Given the description of an element on the screen output the (x, y) to click on. 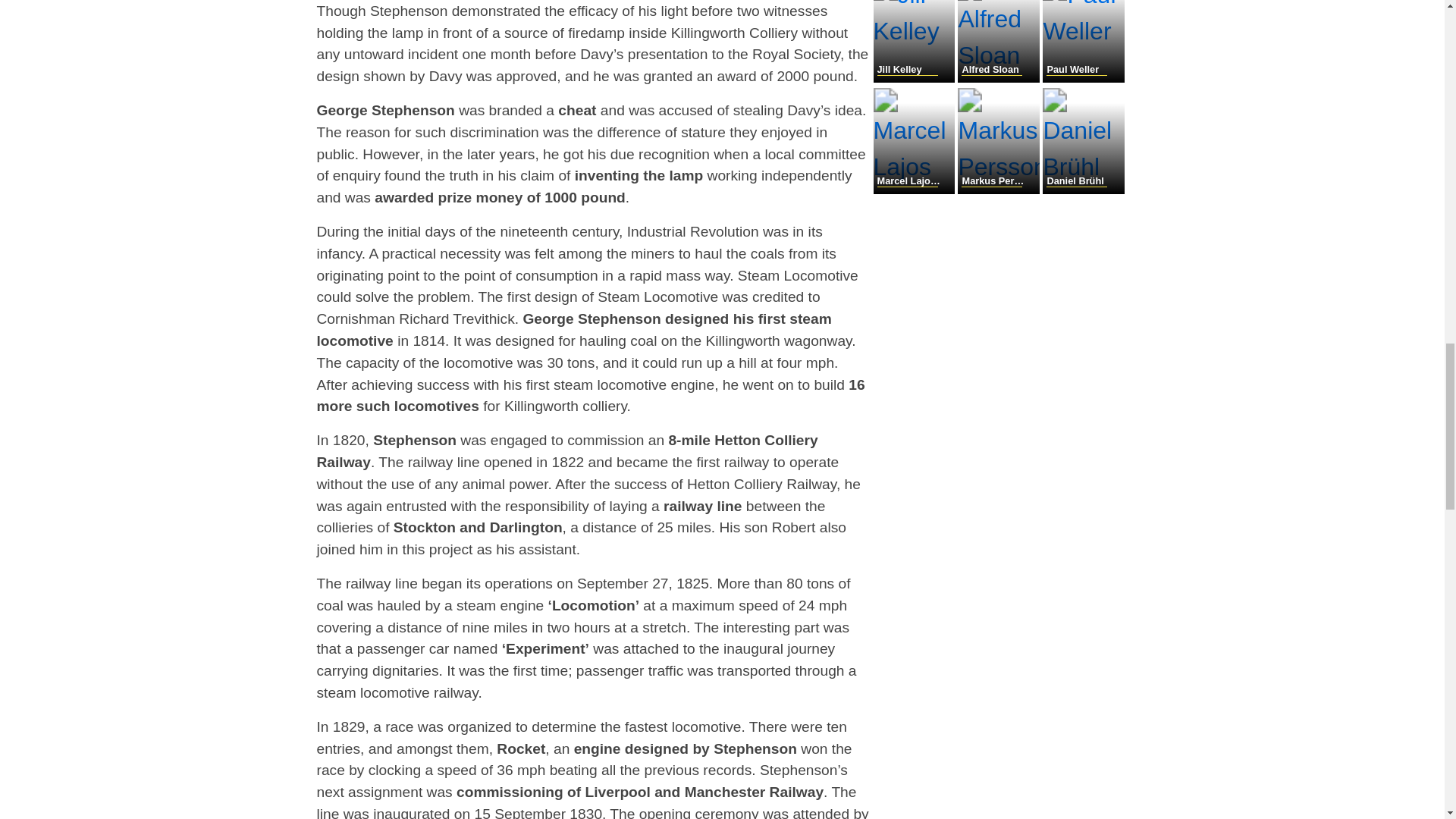
Alfred Sloan (1000, 78)
Jill Kelley (915, 78)
Paul Weller (1083, 78)
Marcel Lajos Breuer (915, 189)
Markus Persson (1000, 189)
